Given the description of an element on the screen output the (x, y) to click on. 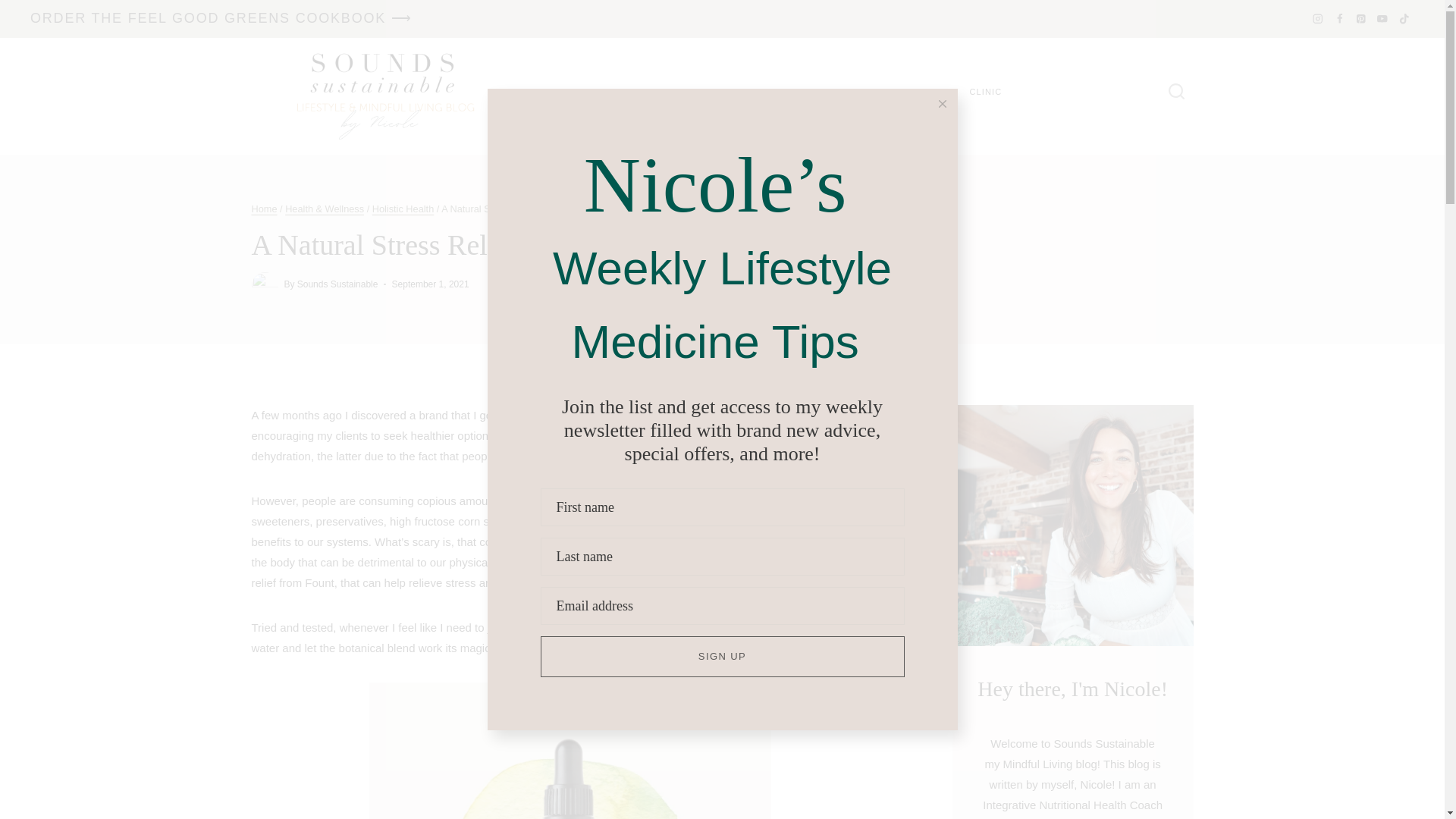
BLOG (649, 91)
SHOP MY FAVORITES (742, 91)
HOMEPAGE (576, 91)
Home (264, 208)
CLINIC (985, 91)
CONTACT (841, 91)
Sounds Sustainable (337, 284)
Holistic Health (402, 208)
COOKBOOK (916, 91)
